Given the description of an element on the screen output the (x, y) to click on. 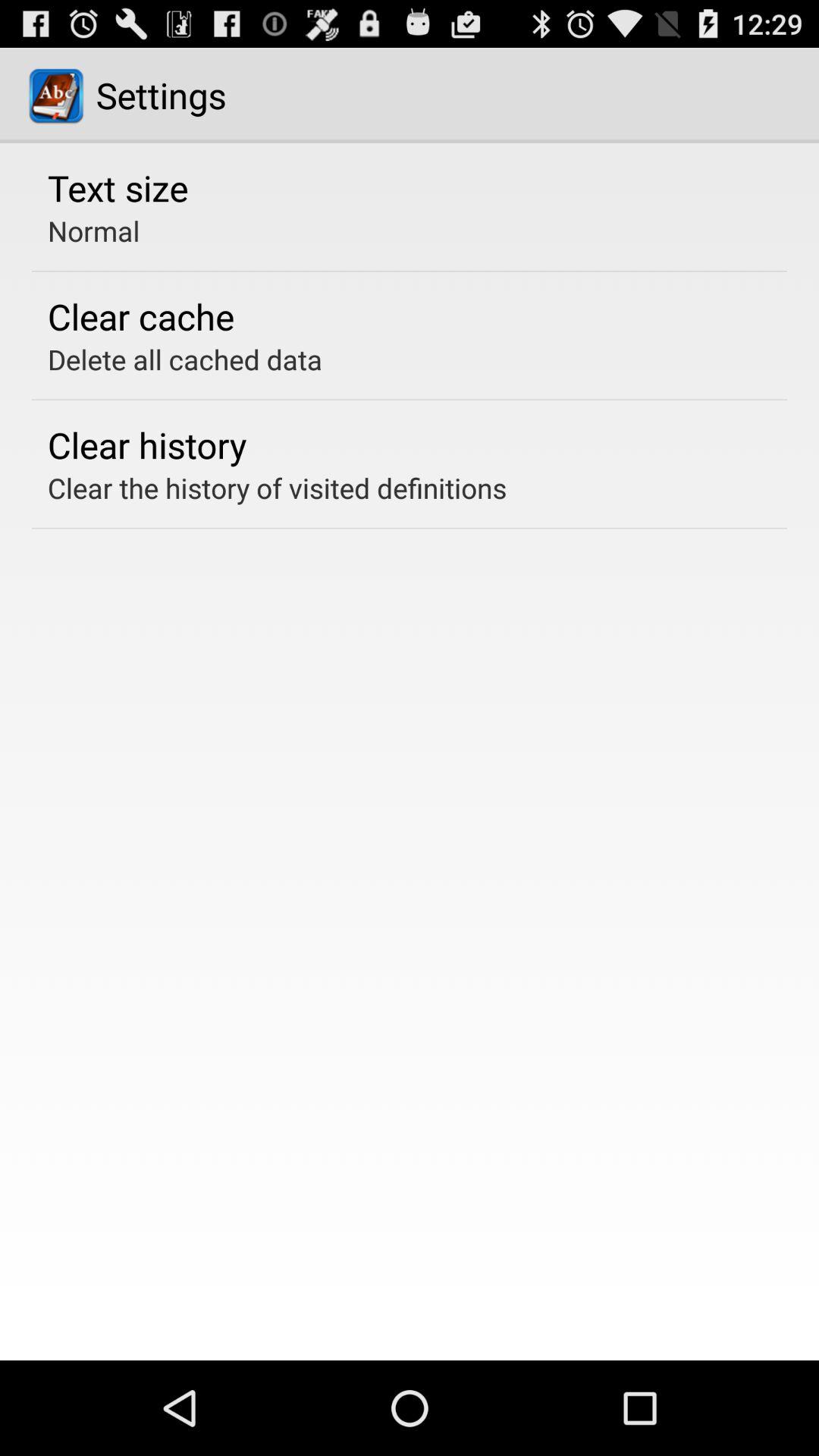
select text size item (117, 187)
